Given the description of an element on the screen output the (x, y) to click on. 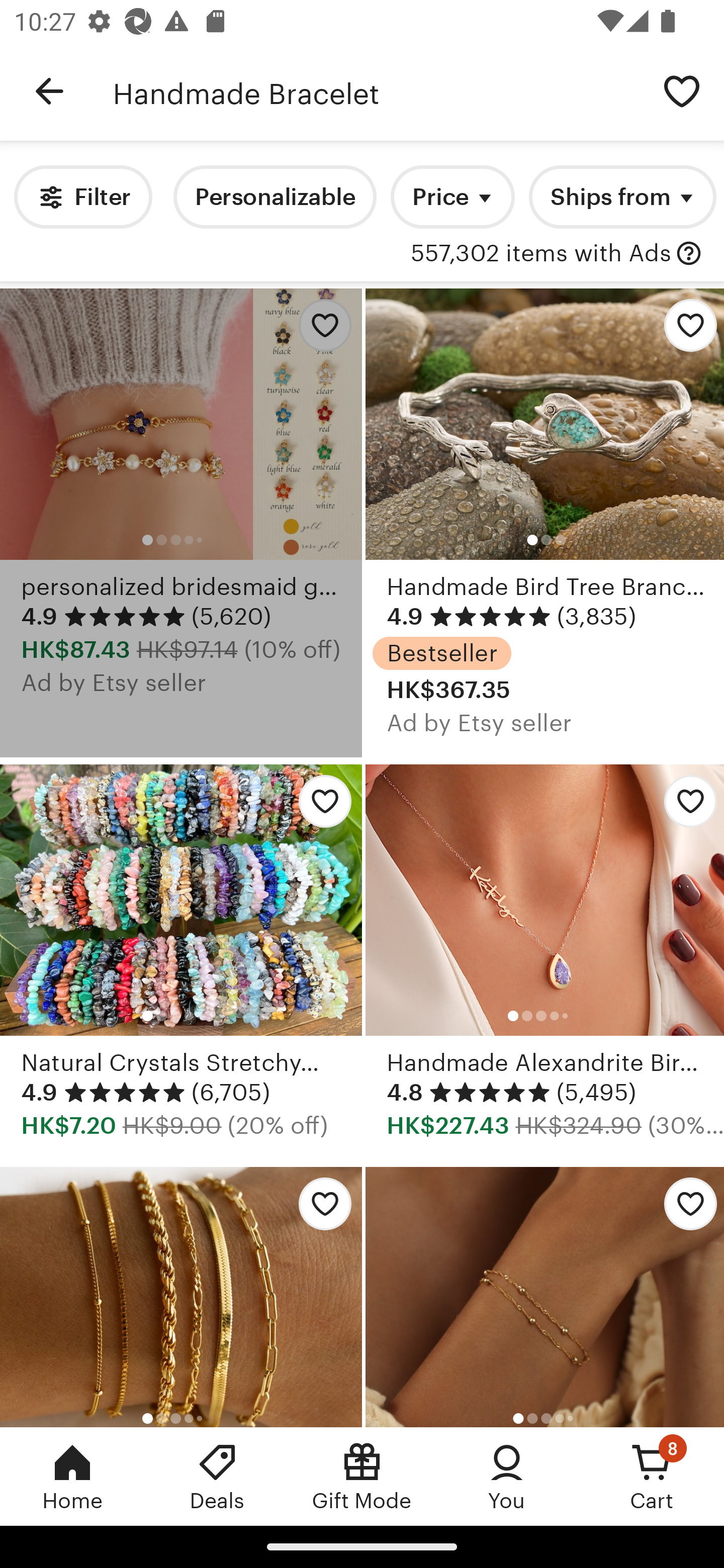
Navigate up (49, 91)
Save search (681, 90)
Handmade Bracelet (375, 91)
Filter (82, 197)
Personalizable (274, 197)
Price (452, 197)
Ships from (622, 197)
557,302 items with Ads (540, 253)
with Ads (688, 253)
Deals (216, 1475)
Gift Mode (361, 1475)
You (506, 1475)
Cart, 8 new notifications Cart (651, 1475)
